Given the description of an element on the screen output the (x, y) to click on. 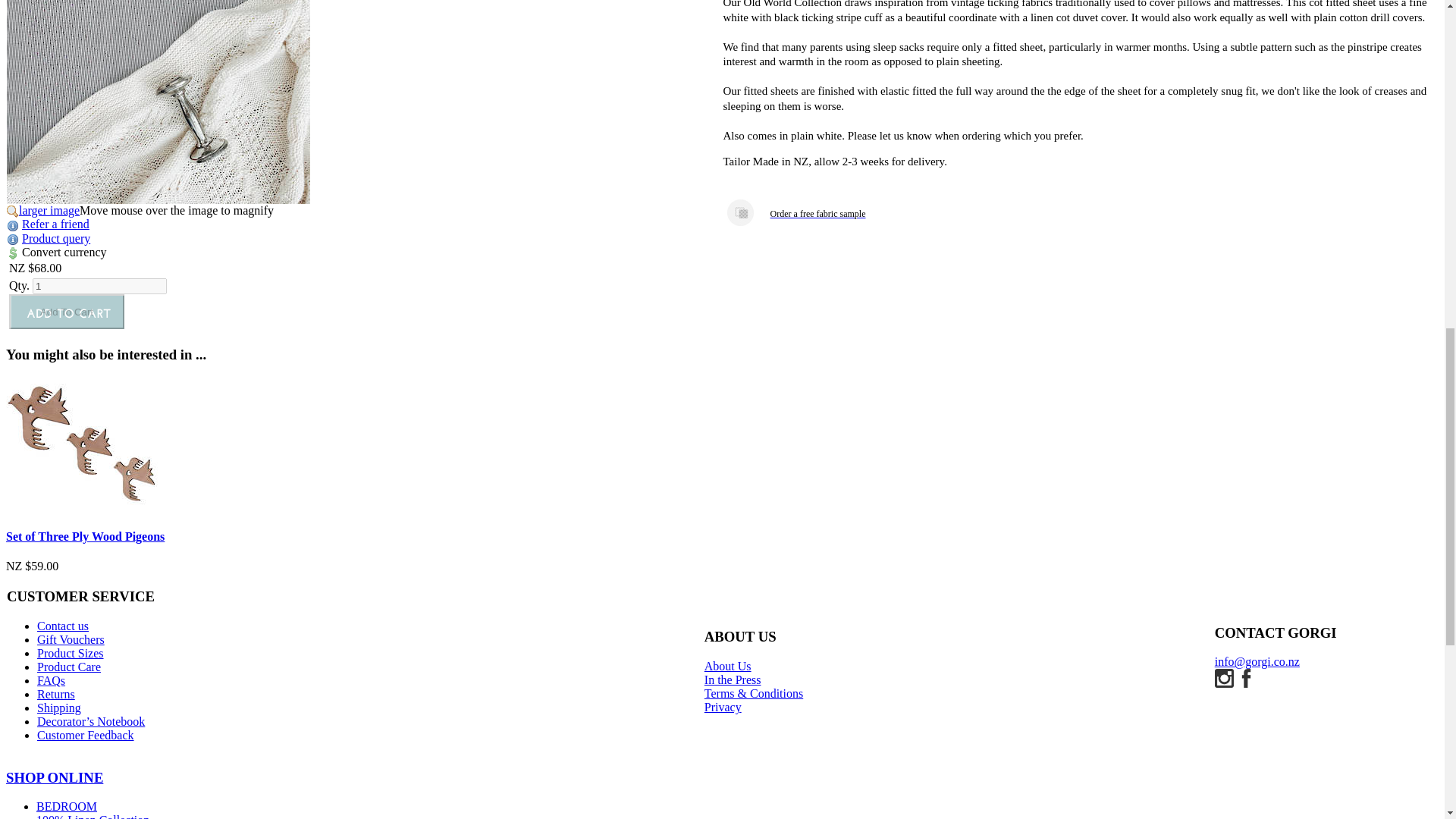
1 (99, 286)
faceb-411 (1245, 678)
Add To Cart (65, 311)
instag-241 (1223, 678)
Order a free fabric sample (739, 212)
